Given the description of an element on the screen output the (x, y) to click on. 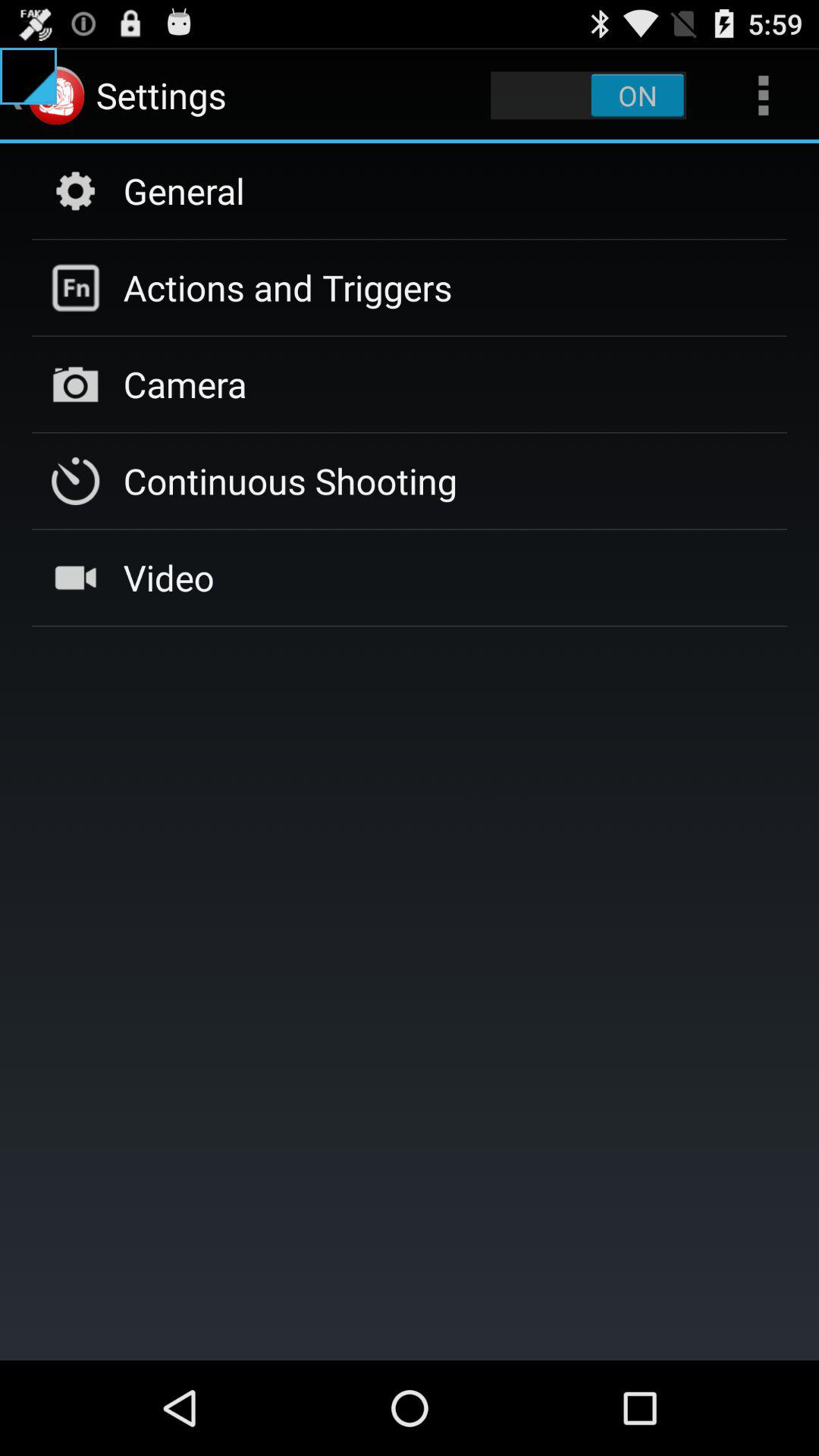
open icon below the camera app (290, 480)
